Given the description of an element on the screen output the (x, y) to click on. 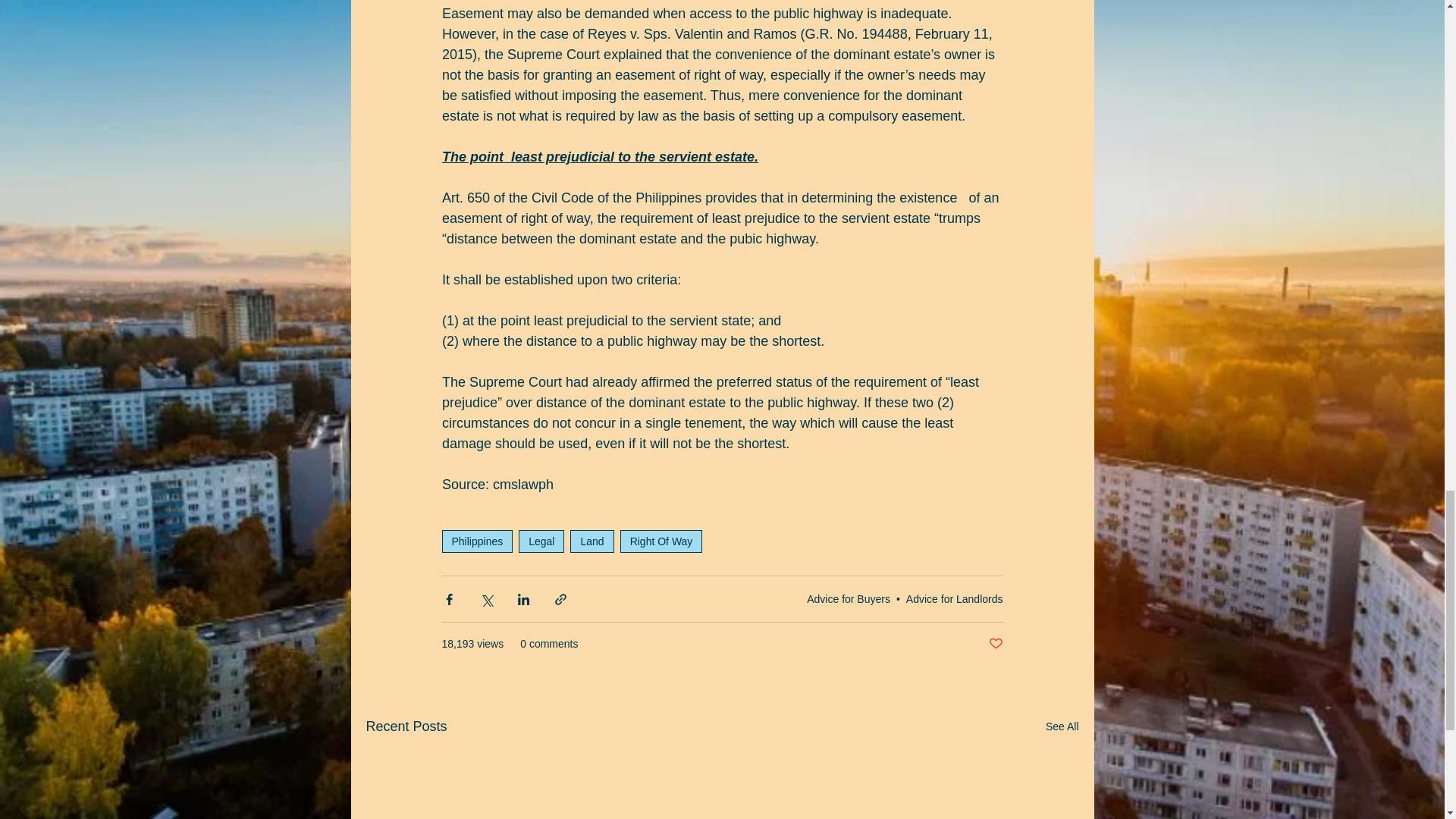
Philippines (476, 540)
Land (591, 540)
Right Of Way (661, 540)
Legal (541, 540)
